Given the description of an element on the screen output the (x, y) to click on. 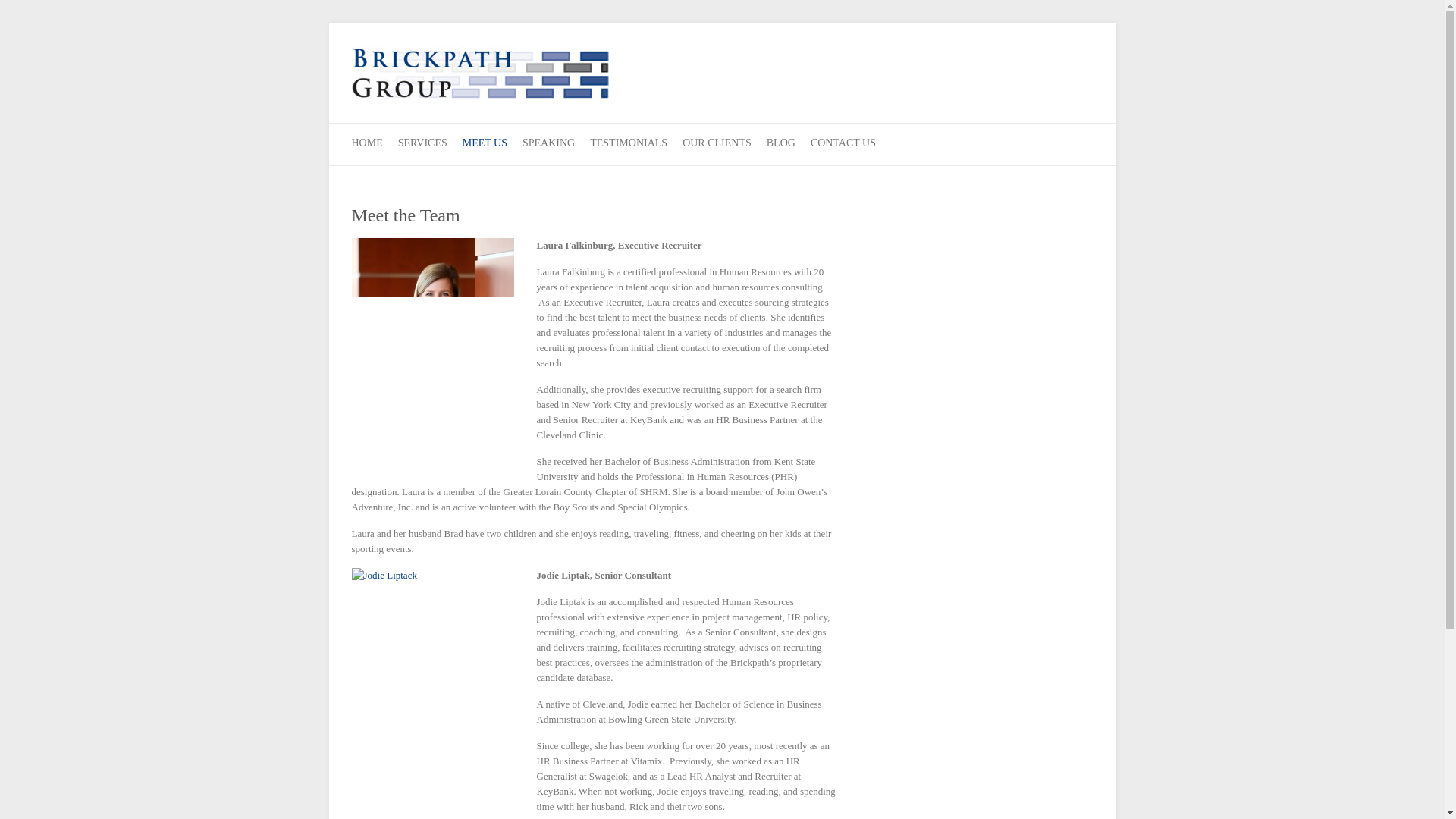
SPEAKING (548, 144)
BRICKPATH GROUP Email (1077, 81)
Brickpath Group, Inc. LinkedIn (1017, 81)
Back to Top (1423, 797)
Brickpath Group, Inc. Twitter (987, 81)
Brickpath Group, Inc. on LinkedIn (1017, 81)
CONTACT US (843, 144)
Brickpath Group, Inc. on Facebook (957, 81)
BRICKPATH GROUP e-mail (1077, 81)
TESTIMONIALS (627, 144)
Brickpath Group, Inc. Facebook (957, 81)
Brickpath Group, Inc. (480, 76)
BRICKPATH GROUP on skype (1047, 81)
OUR CLIENTS (716, 144)
SERVICES (421, 144)
